Given the description of an element on the screen output the (x, y) to click on. 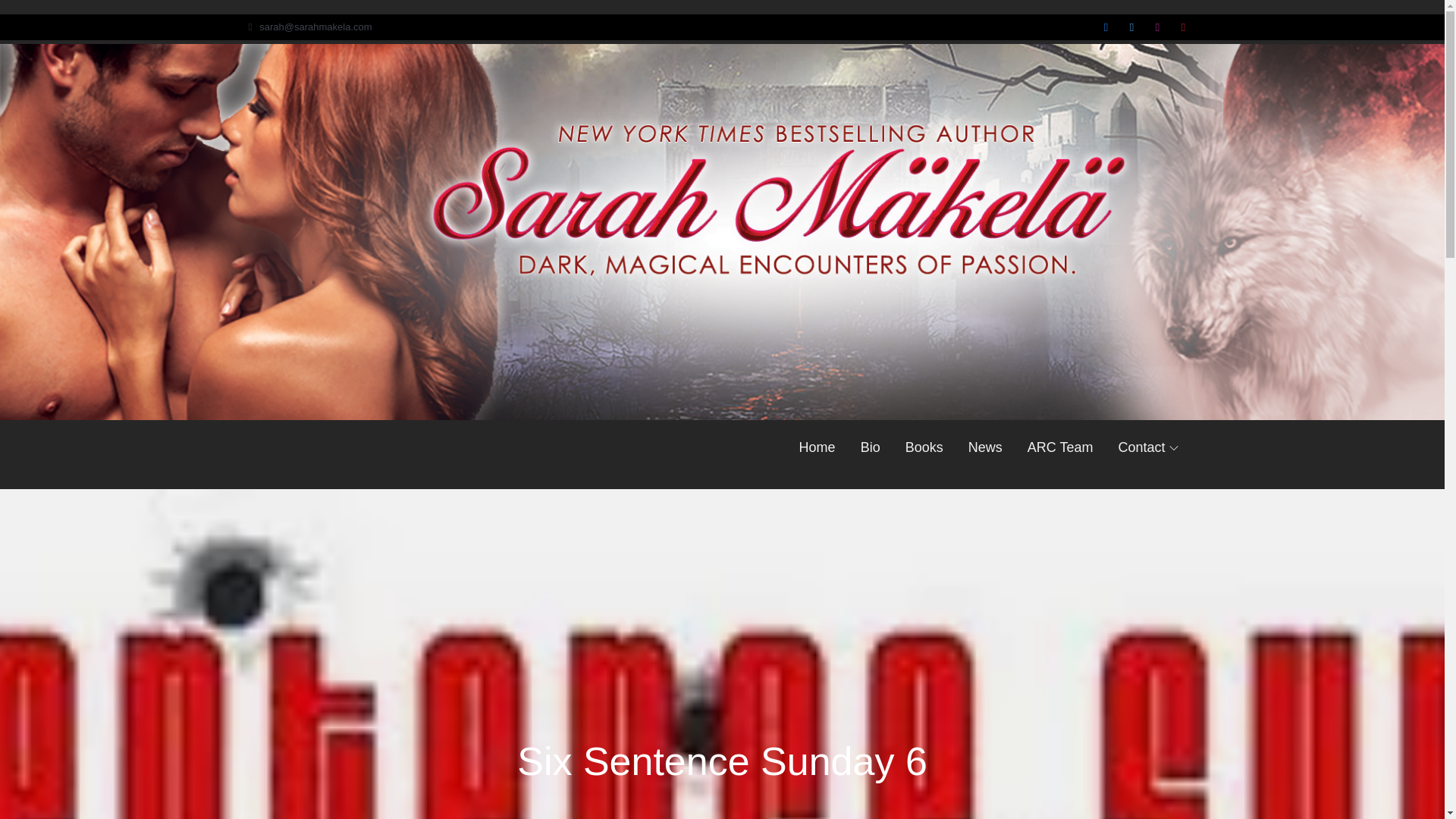
ARC Team (1060, 447)
Contact (1147, 447)
